Given the description of an element on the screen output the (x, y) to click on. 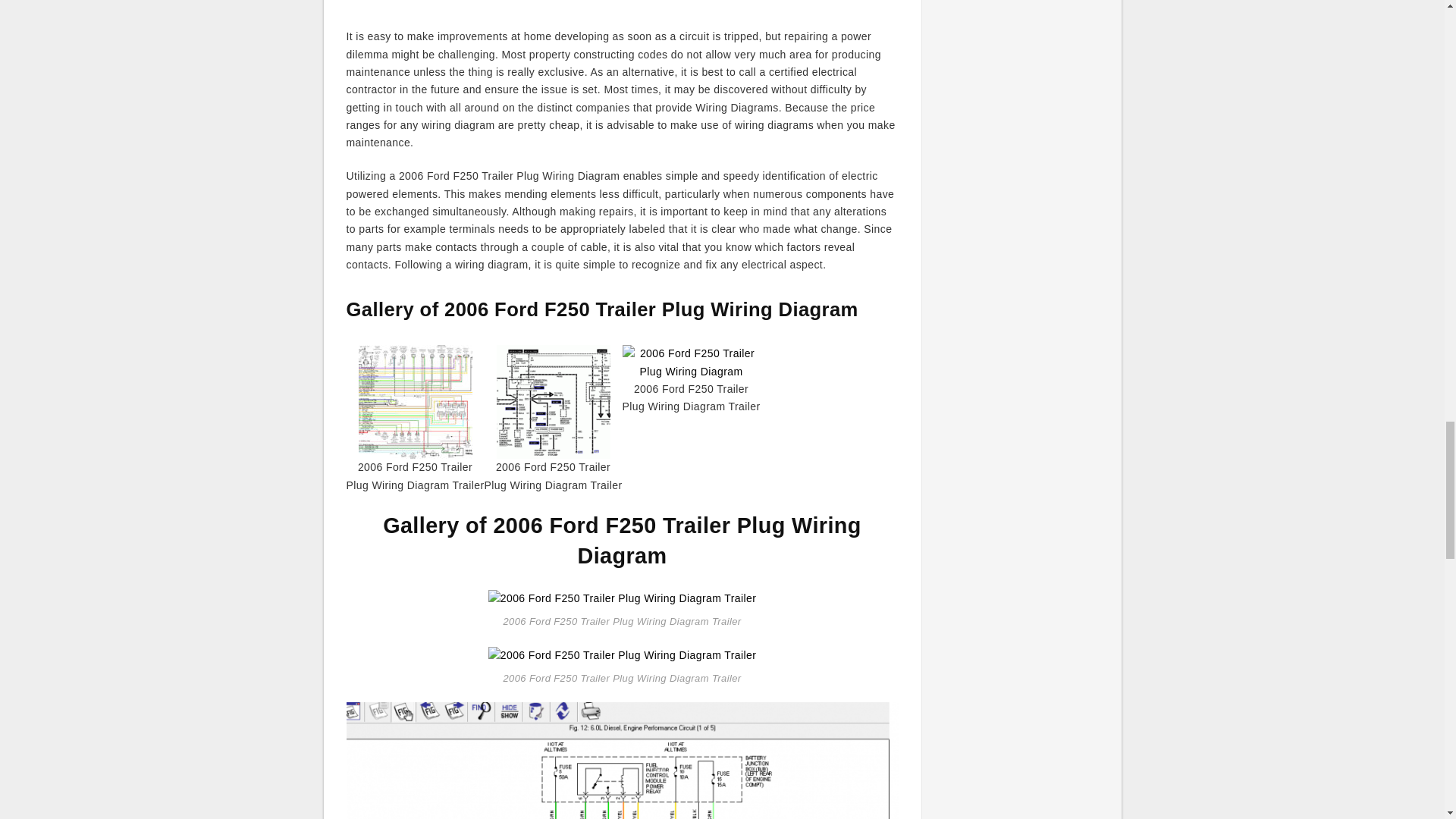
2006 Ford F250 Trailer Plug Wiring Diagram Trailer (621, 597)
2006 Ford F250 Trailer Plug Wiring Diagram Trailer (622, 760)
2006 Ford F250 Trailer Plug Wiring Diagram Trailer (621, 598)
2006 Ford F250 Trailer Plug Wiring Diagram Trailer (621, 655)
2006 Ford F250 Trailer Plug Wiring Diagram Trailer (621, 654)
